Given the description of an element on the screen output the (x, y) to click on. 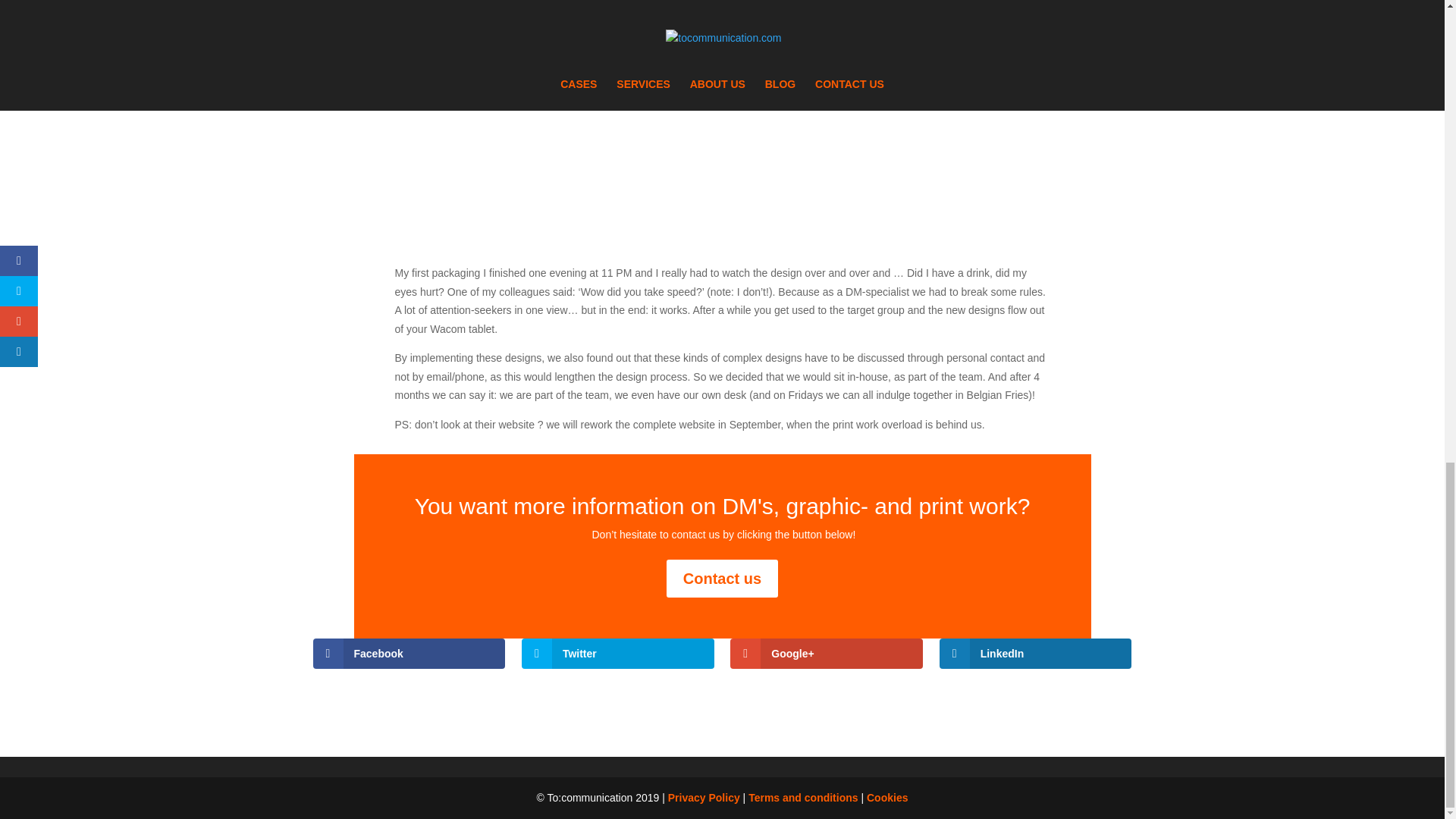
Privacy Policy (703, 797)
Facebook (409, 653)
Cookies (886, 797)
LinkedIn (1035, 653)
Contact us (721, 578)
Twitter (617, 653)
Terms and conditions (802, 797)
